Given the description of an element on the screen output the (x, y) to click on. 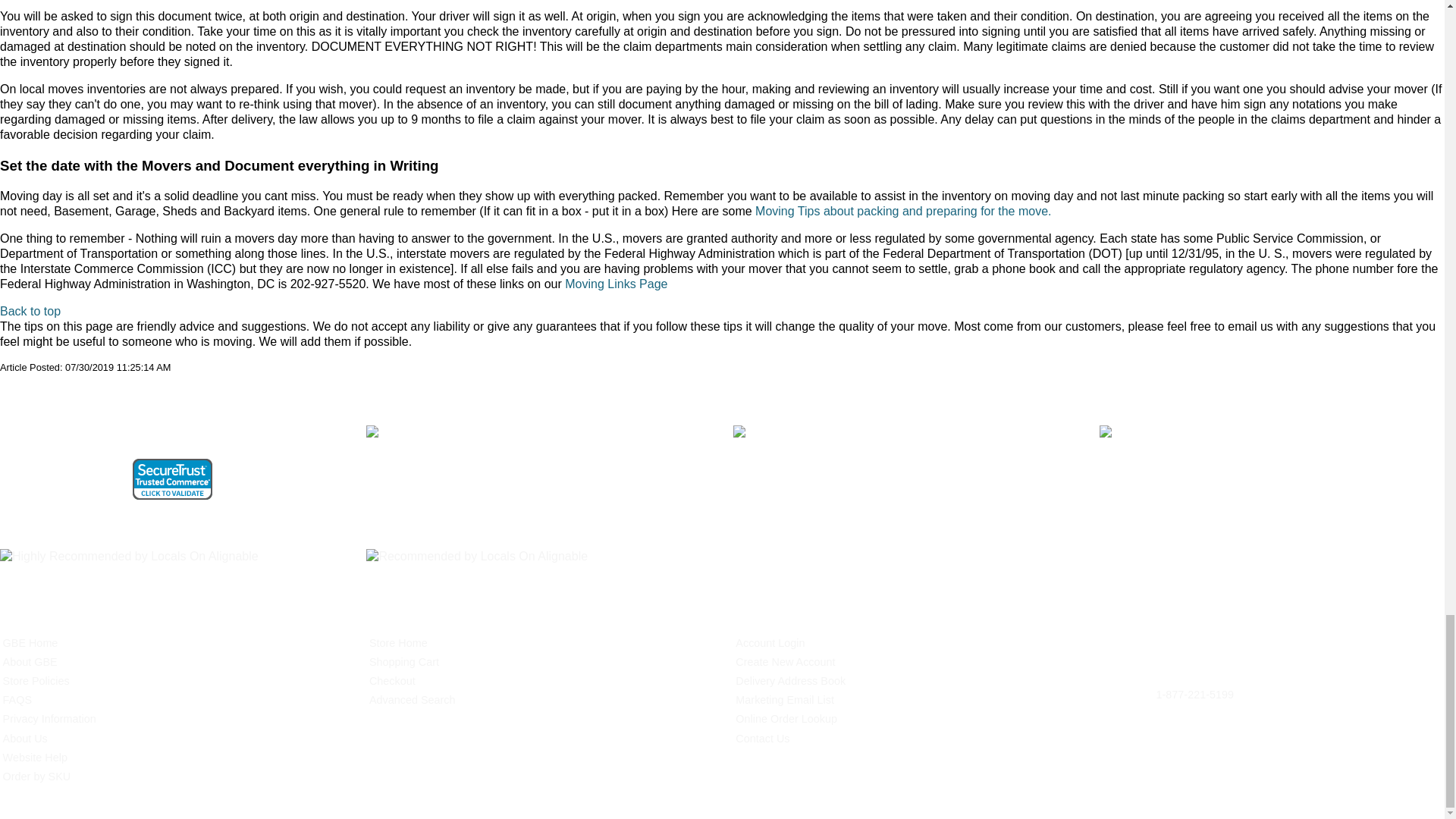
Back to top (30, 310)
Moving Links Page (615, 283)
RSS Feed (36, 397)
Moving Tips about packing and preparing for the move. (903, 210)
RSS Feed (12, 397)
